Given the description of an element on the screen output the (x, y) to click on. 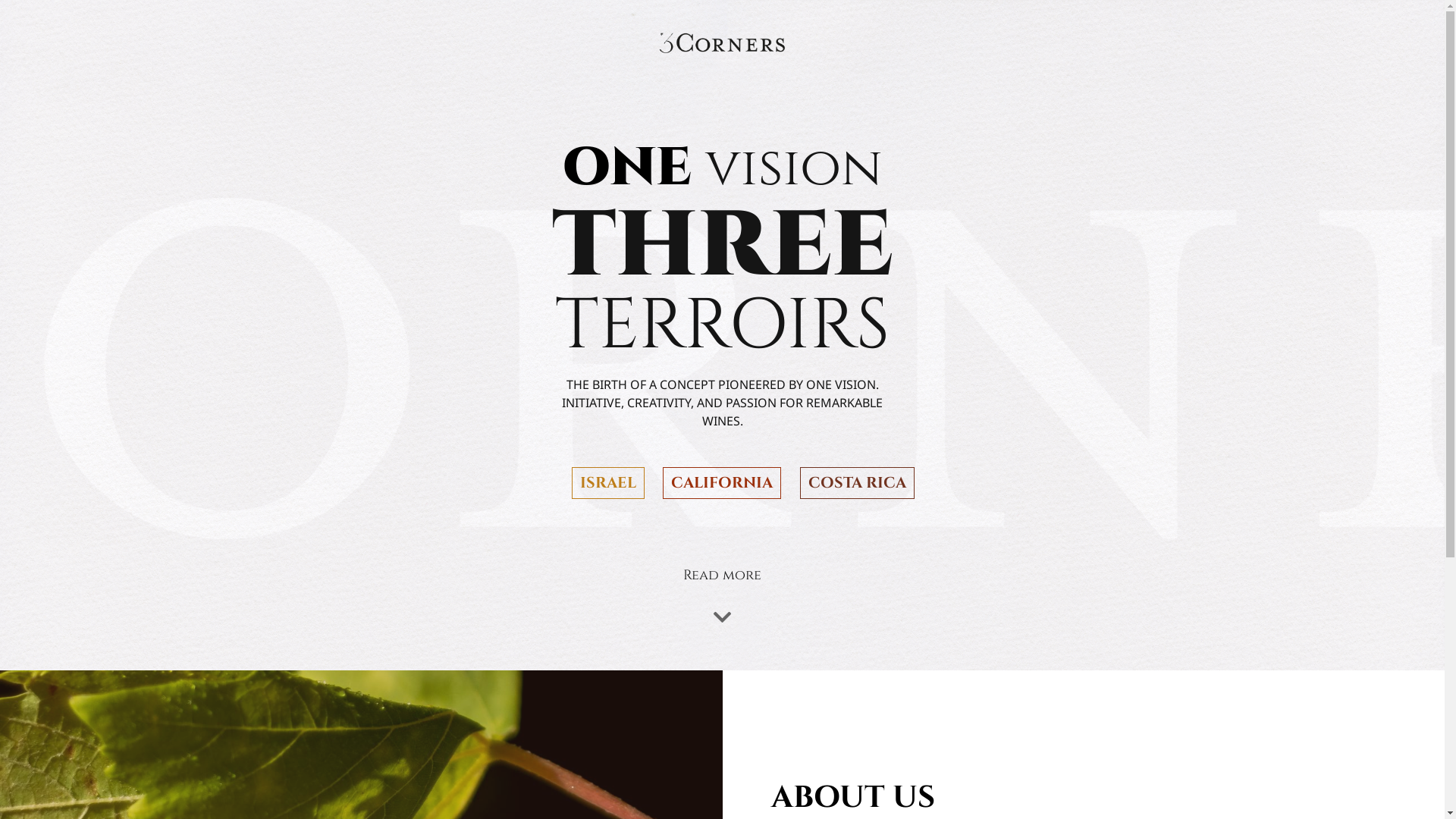
ISRAEL Element type: text (607, 482)
Read more Element type: text (722, 575)
CALIFORNIA Element type: text (721, 482)
COSTA RICA Element type: text (857, 482)
